Given the description of an element on the screen output the (x, y) to click on. 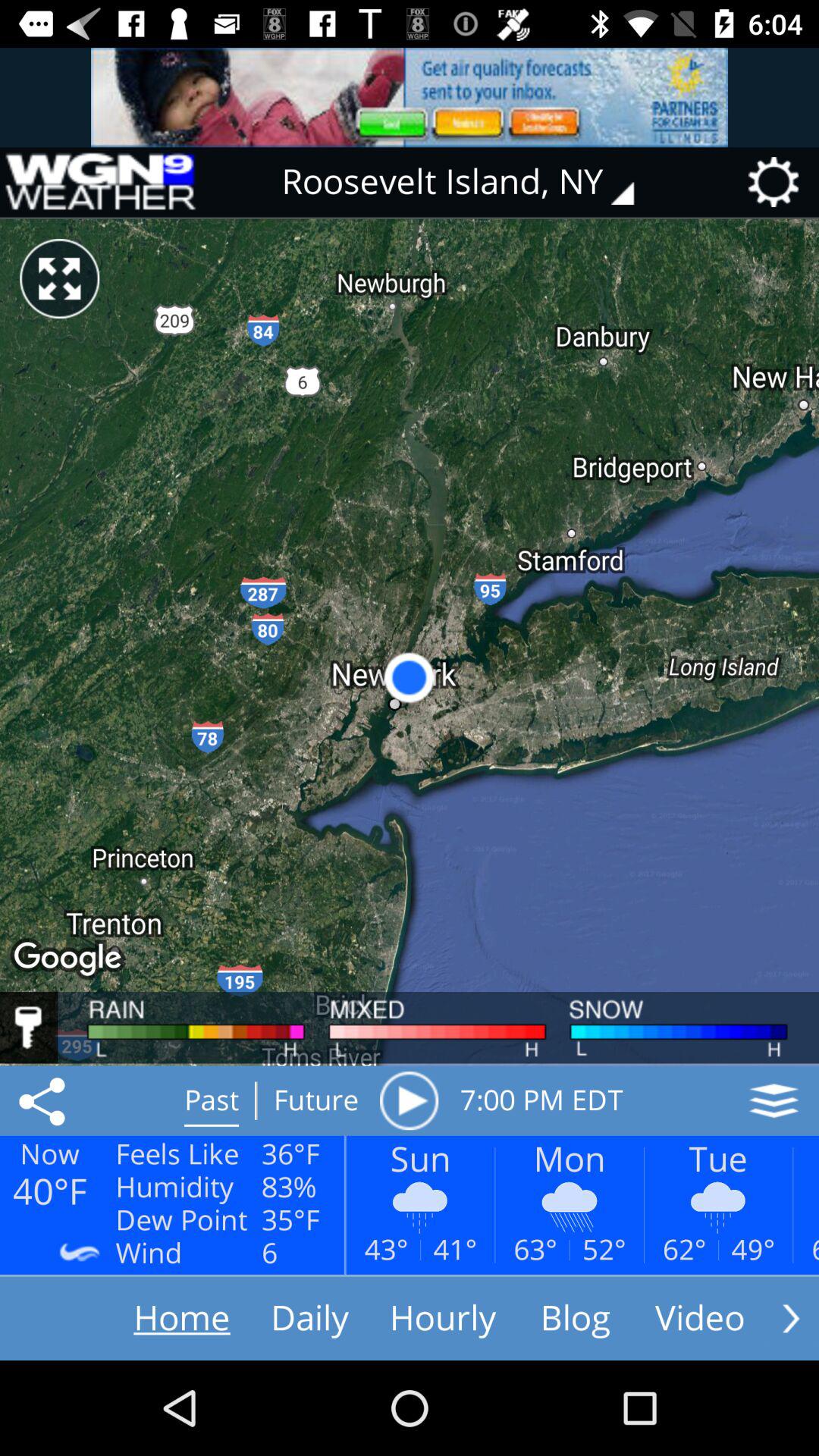
choose the icon next to the 7 00 pm item (774, 1100)
